Given the description of an element on the screen output the (x, y) to click on. 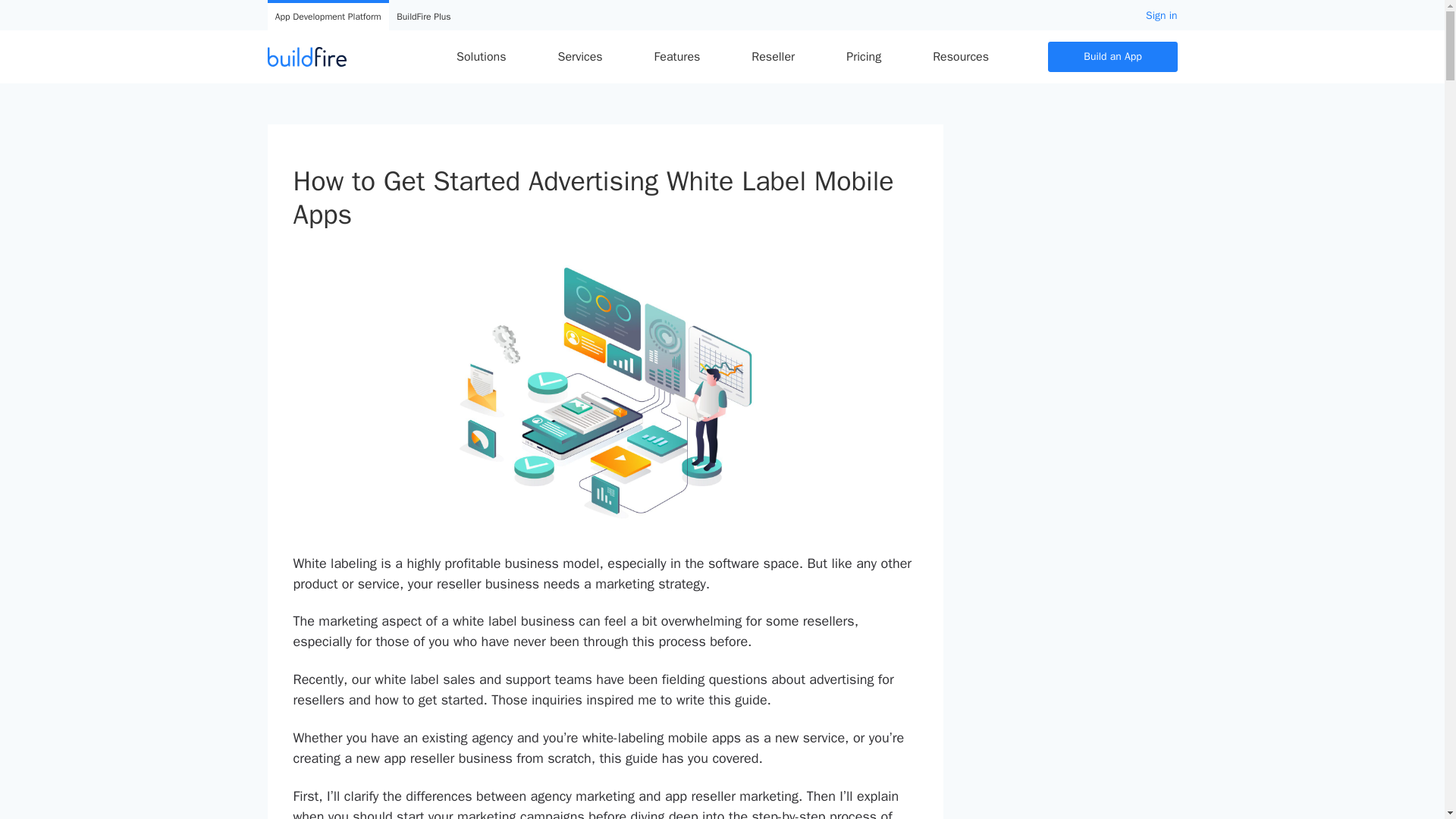
App Development Platform (327, 17)
Sign in (1160, 15)
BuildFire Plus (423, 17)
